Given the description of an element on the screen output the (x, y) to click on. 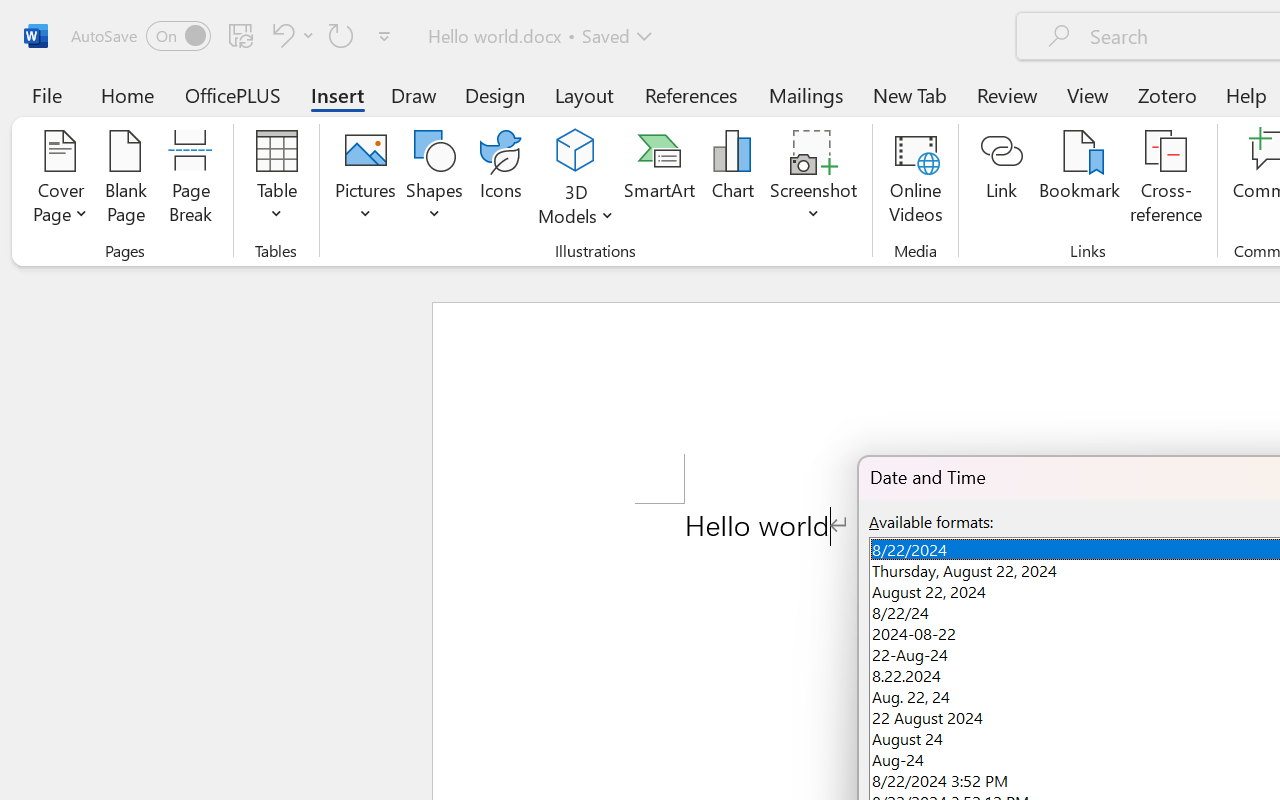
Convert with Options... (479, 138)
Previous (1153, 87)
End Review (1249, 114)
Language (363, 114)
New Comment (711, 114)
Reject (1096, 114)
Check Accessibility (169, 94)
Spelling... (31, 114)
